Given the description of an element on the screen output the (x, y) to click on. 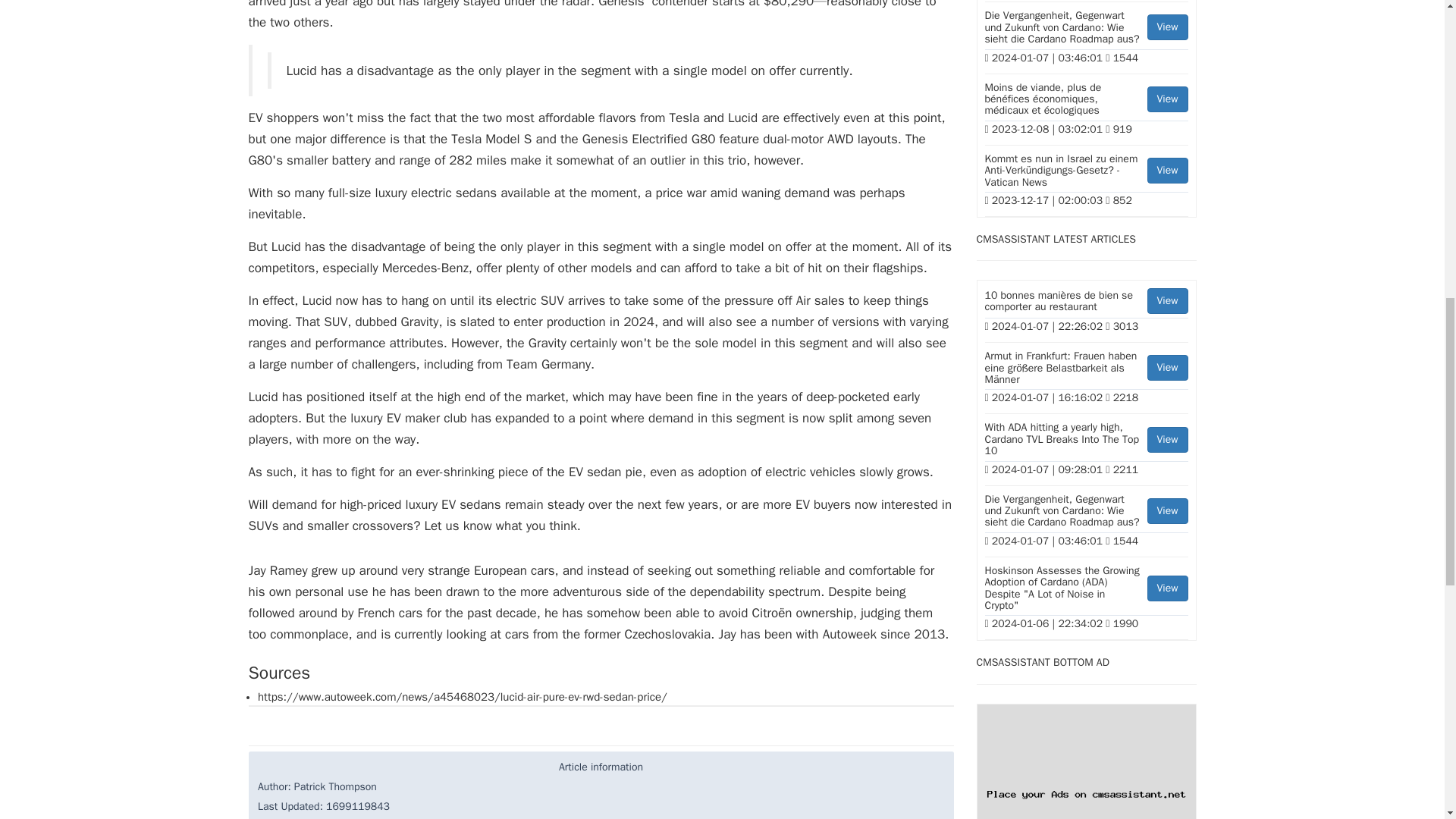
View (1167, 588)
View (1167, 367)
View (1167, 99)
View (1167, 300)
View (1167, 27)
View (1167, 170)
